Given the description of an element on the screen output the (x, y) to click on. 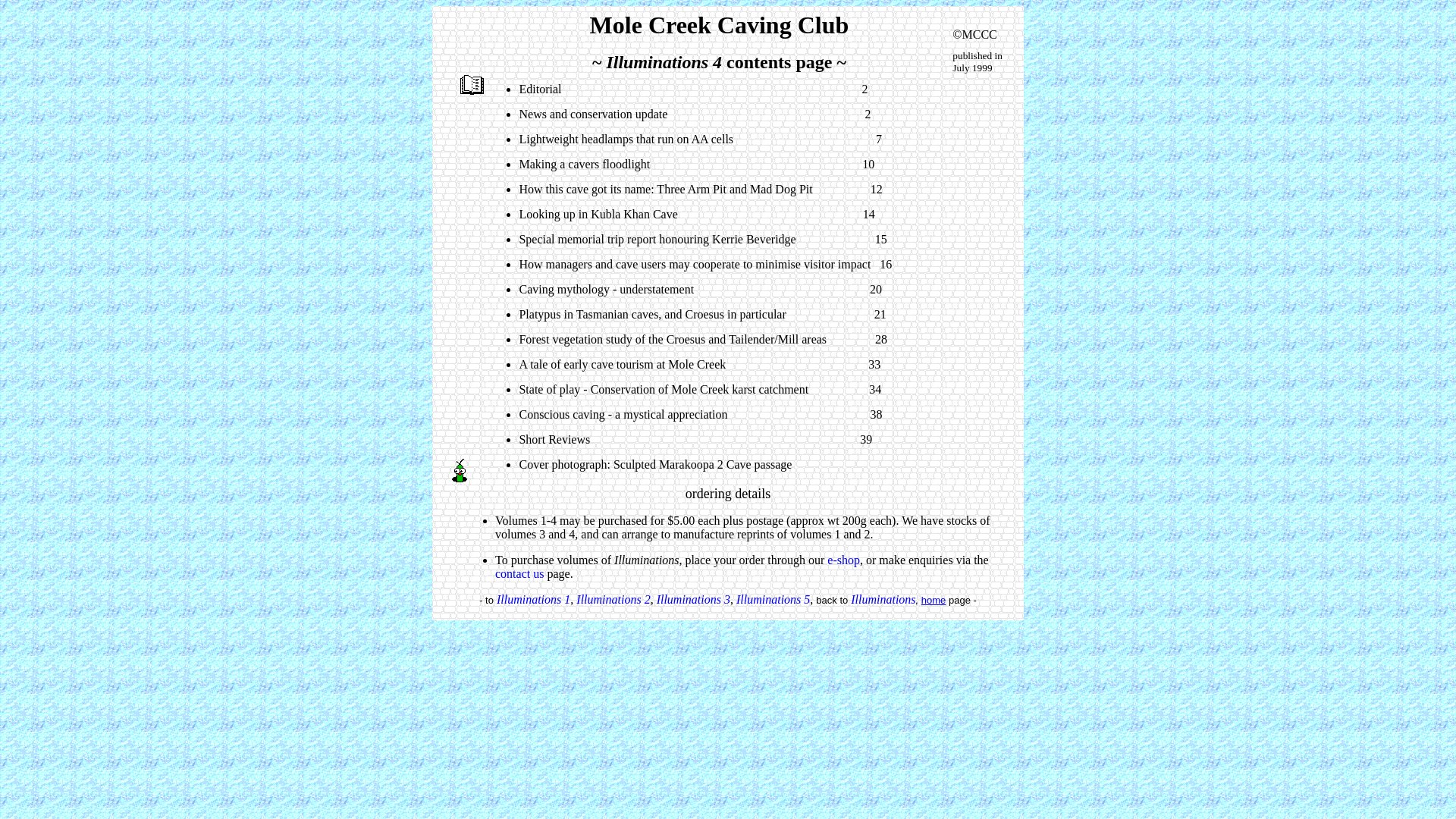
Illuminations 3 Element type: text (693, 599)
Illuminations 1 Element type: text (533, 599)
Illuminations 2 Element type: text (612, 599)
contact us Element type: text (519, 573)
Illuminations Element type: text (882, 599)
home Element type: text (933, 599)
Illuminations 5 Element type: text (772, 599)
e-shop Element type: text (843, 559)
